Given the description of an element on the screen output the (x, y) to click on. 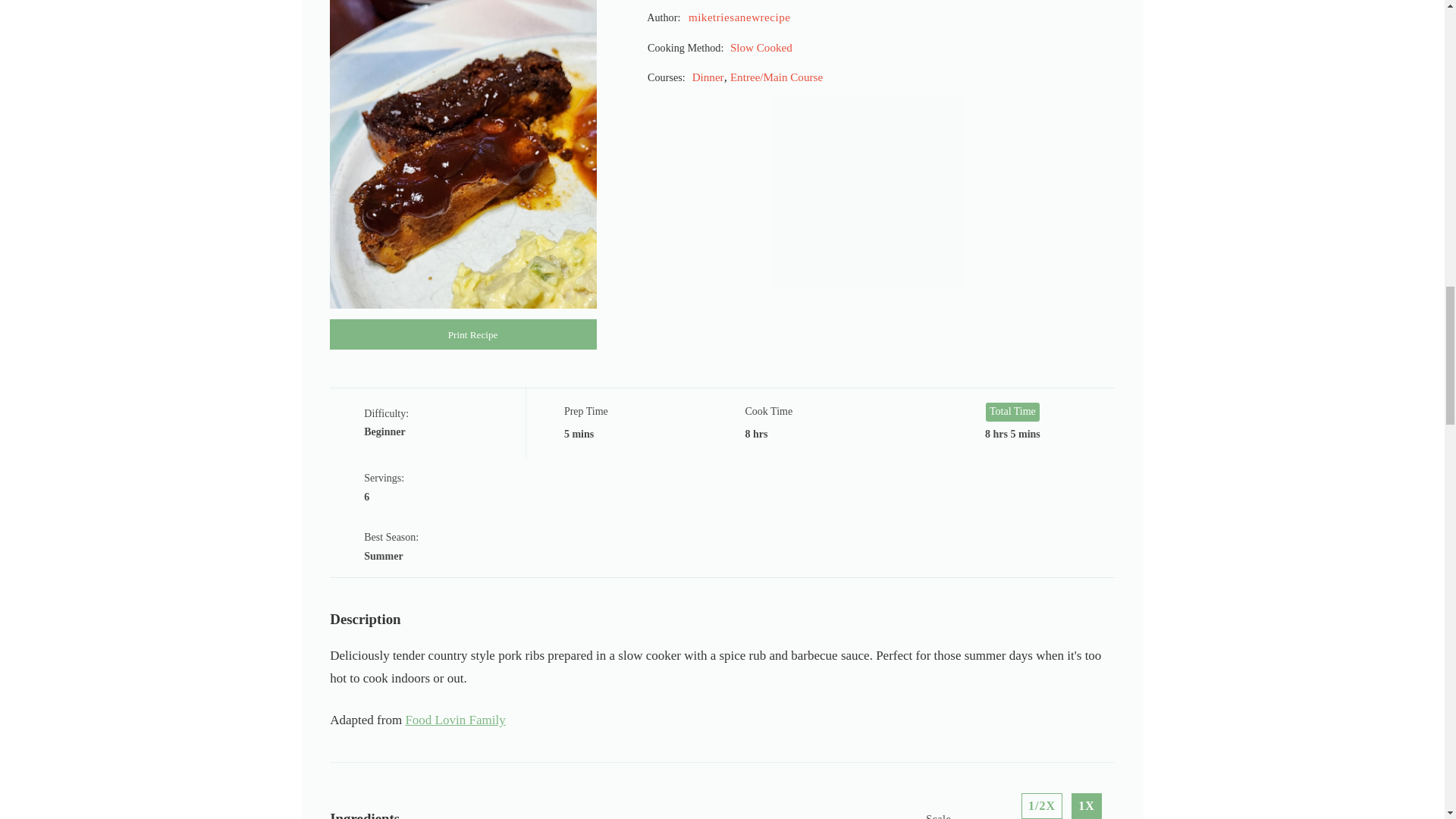
Slow Cooked (761, 47)
Print Recipe (463, 334)
miketriesanewrecipe (739, 17)
Food Lovin Family (454, 719)
1X (1086, 806)
Dinner (708, 76)
